Given the description of an element on the screen output the (x, y) to click on. 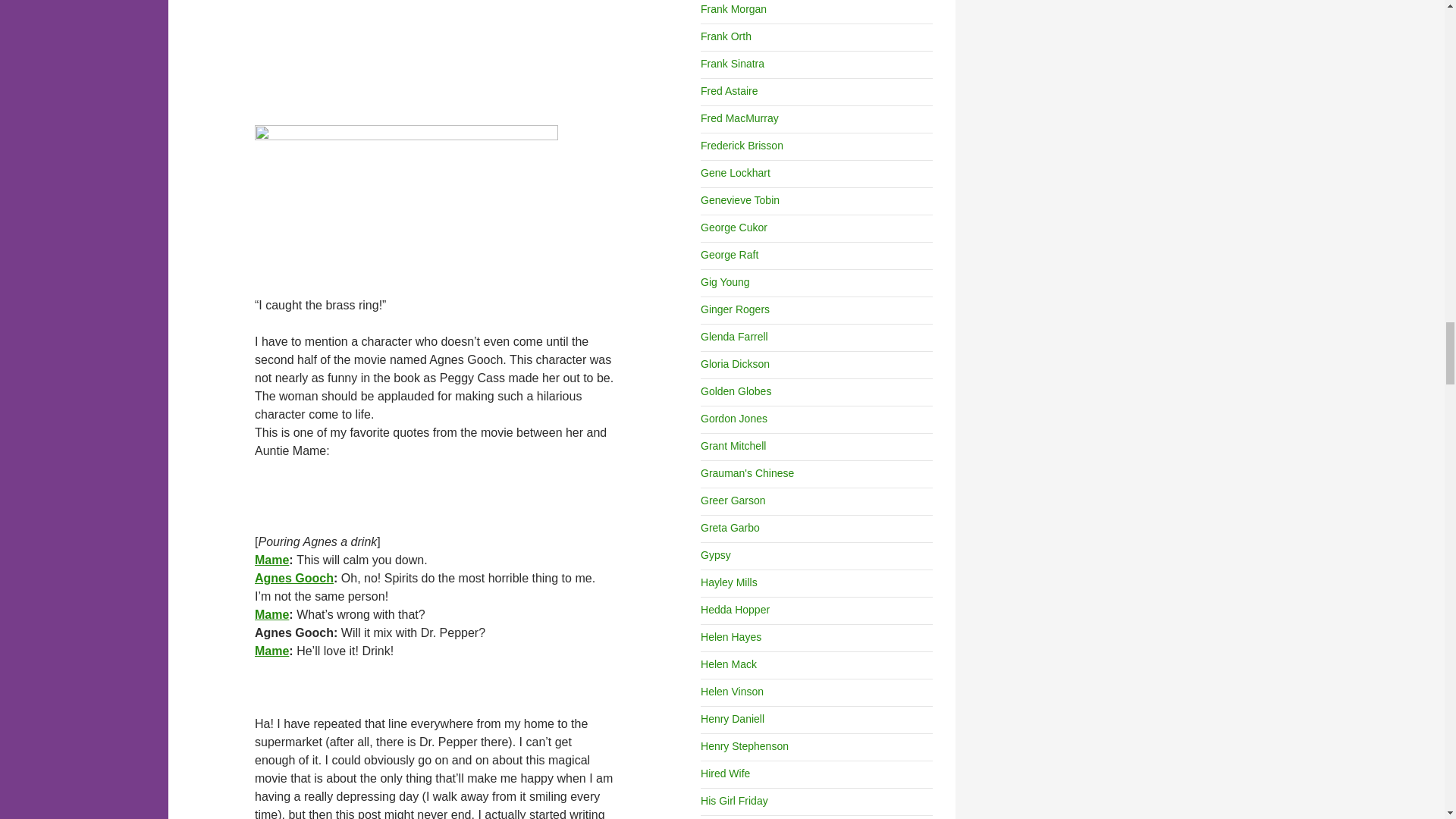
Mame (271, 614)
Mame (271, 559)
Mame (271, 650)
Agnes Gooch (293, 577)
